Given the description of an element on the screen output the (x, y) to click on. 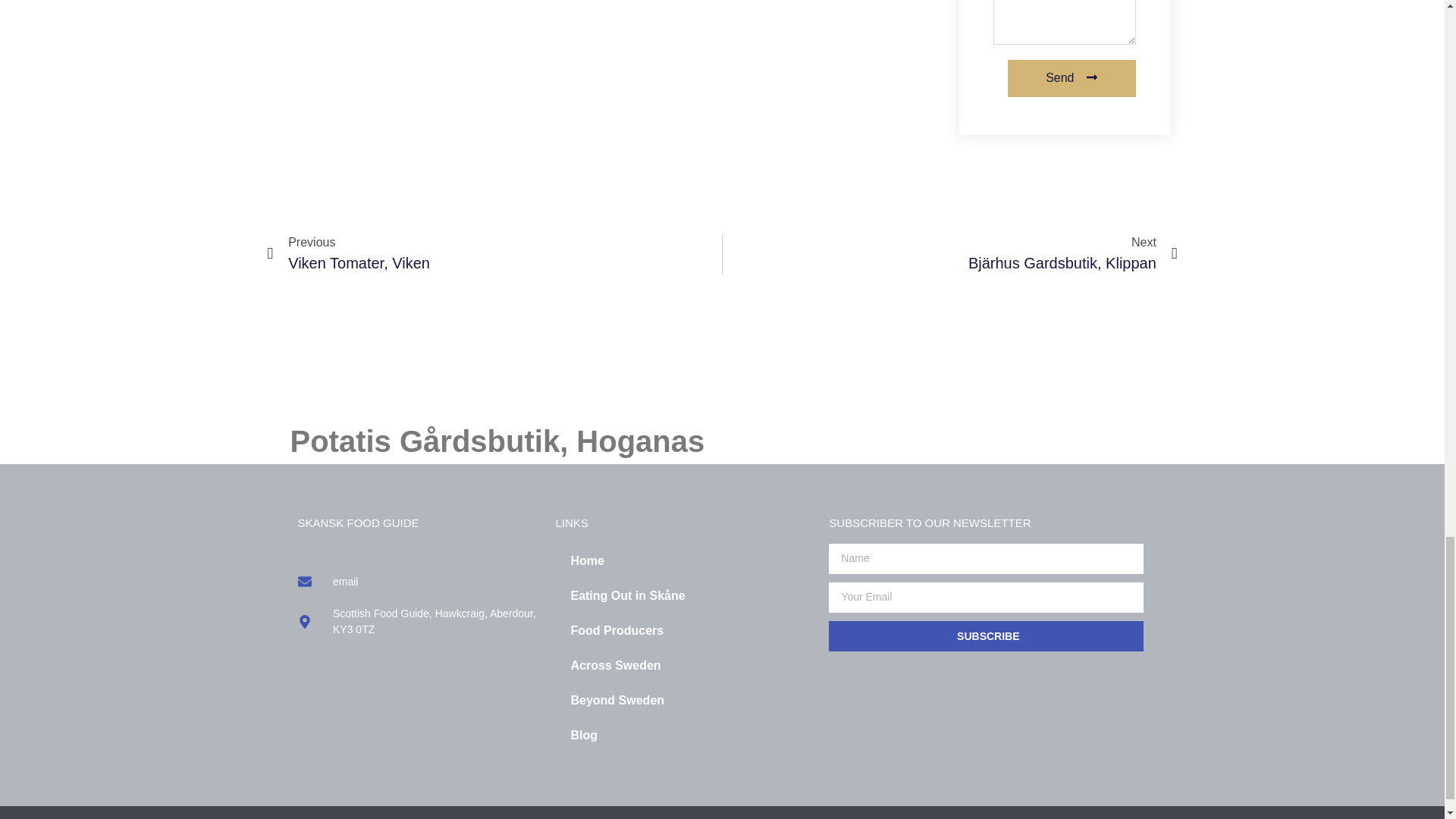
email (418, 581)
Blog (683, 735)
Home (683, 560)
Send (1071, 78)
Food Producers (683, 630)
Across Sweden (494, 253)
Beyond Sweden (683, 665)
